Given the description of an element on the screen output the (x, y) to click on. 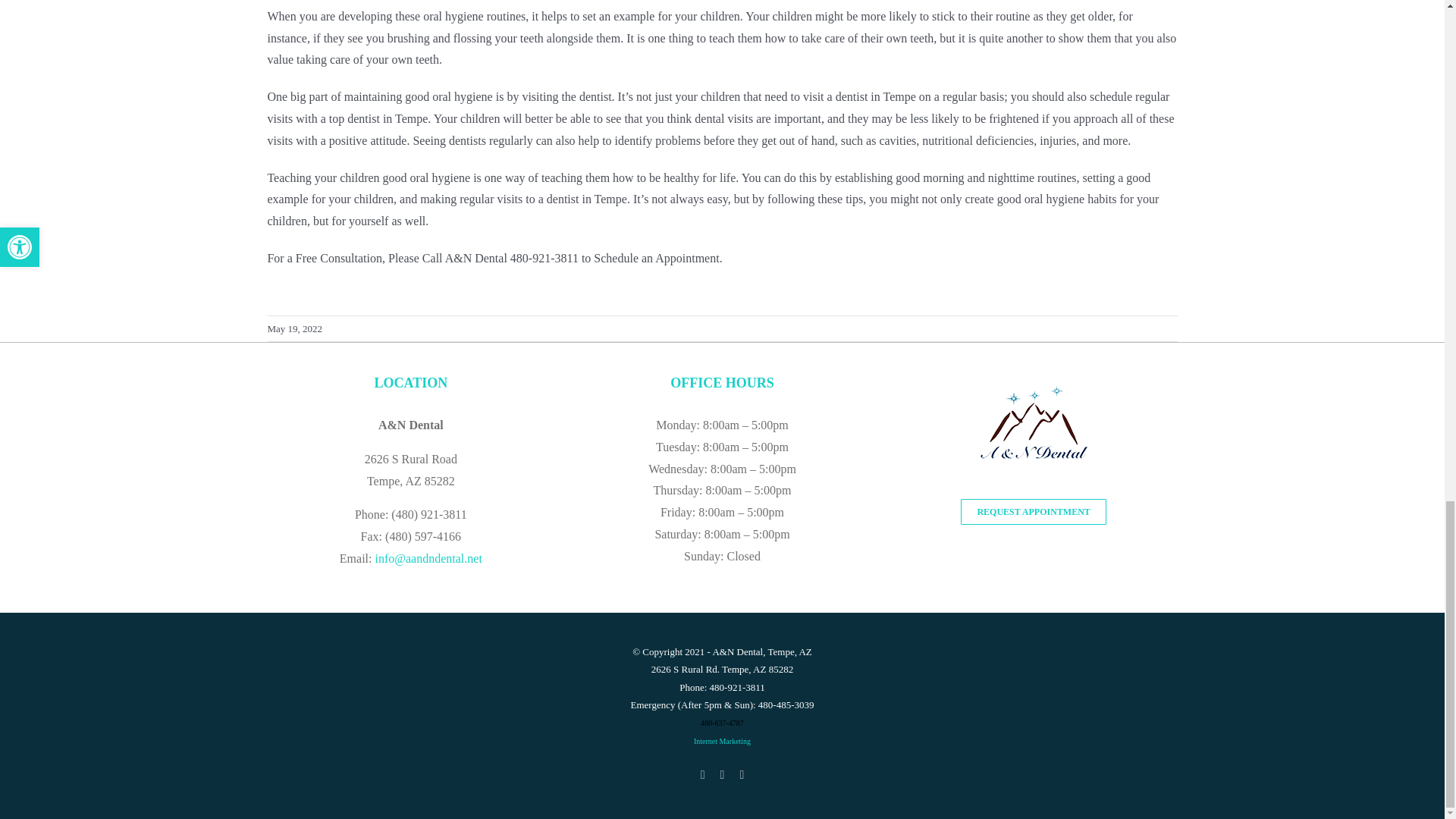
Google Maps (702, 775)
Facebook (741, 775)
Instagram (722, 775)
